Given the description of an element on the screen output the (x, y) to click on. 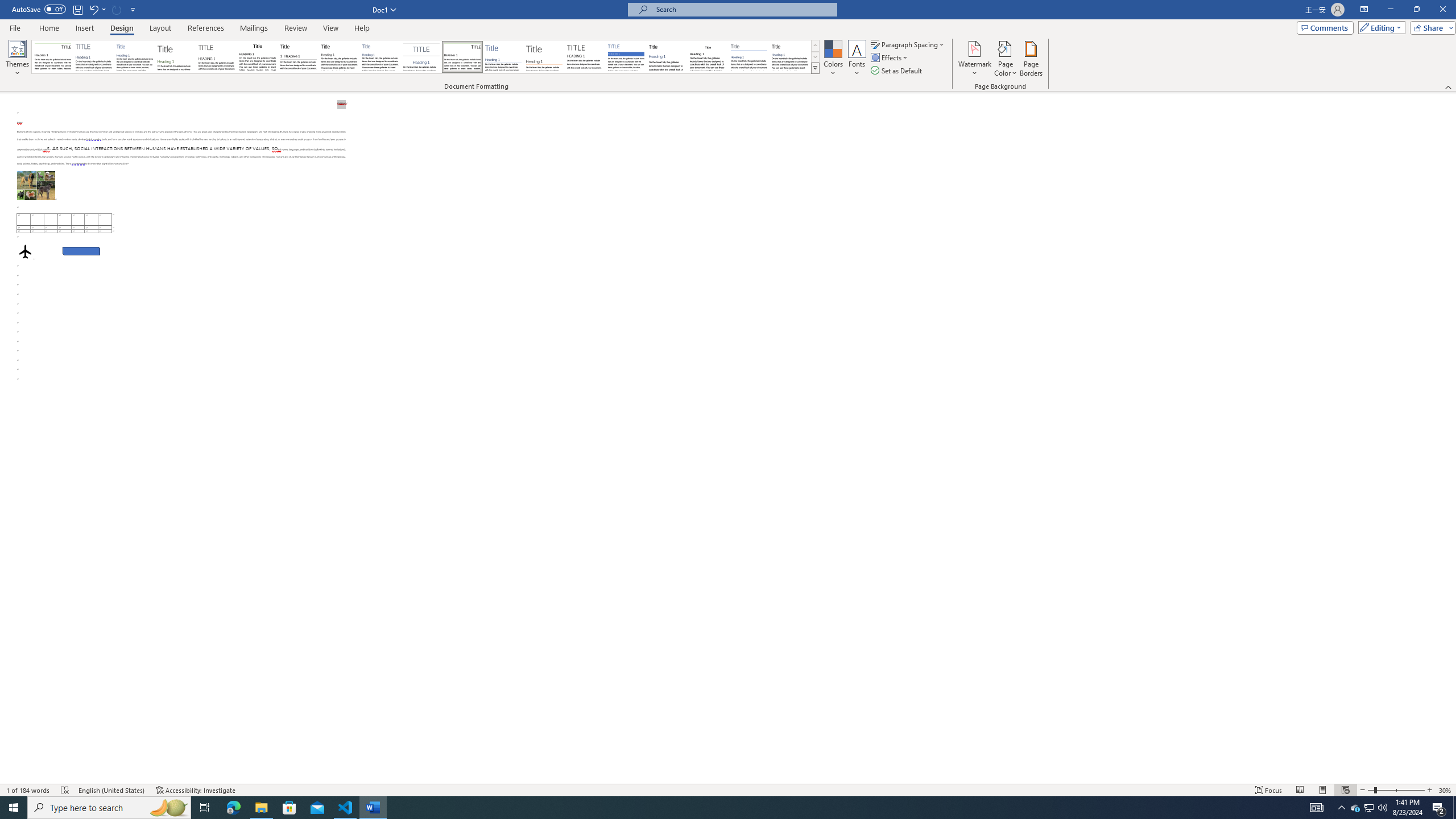
Word 2010 (749, 56)
Undo Apply Quick Style Set (96, 9)
Rectangle: Diagonal Corners Snipped 2 (81, 250)
Paragraph Spacing (908, 44)
